Given the description of an element on the screen output the (x, y) to click on. 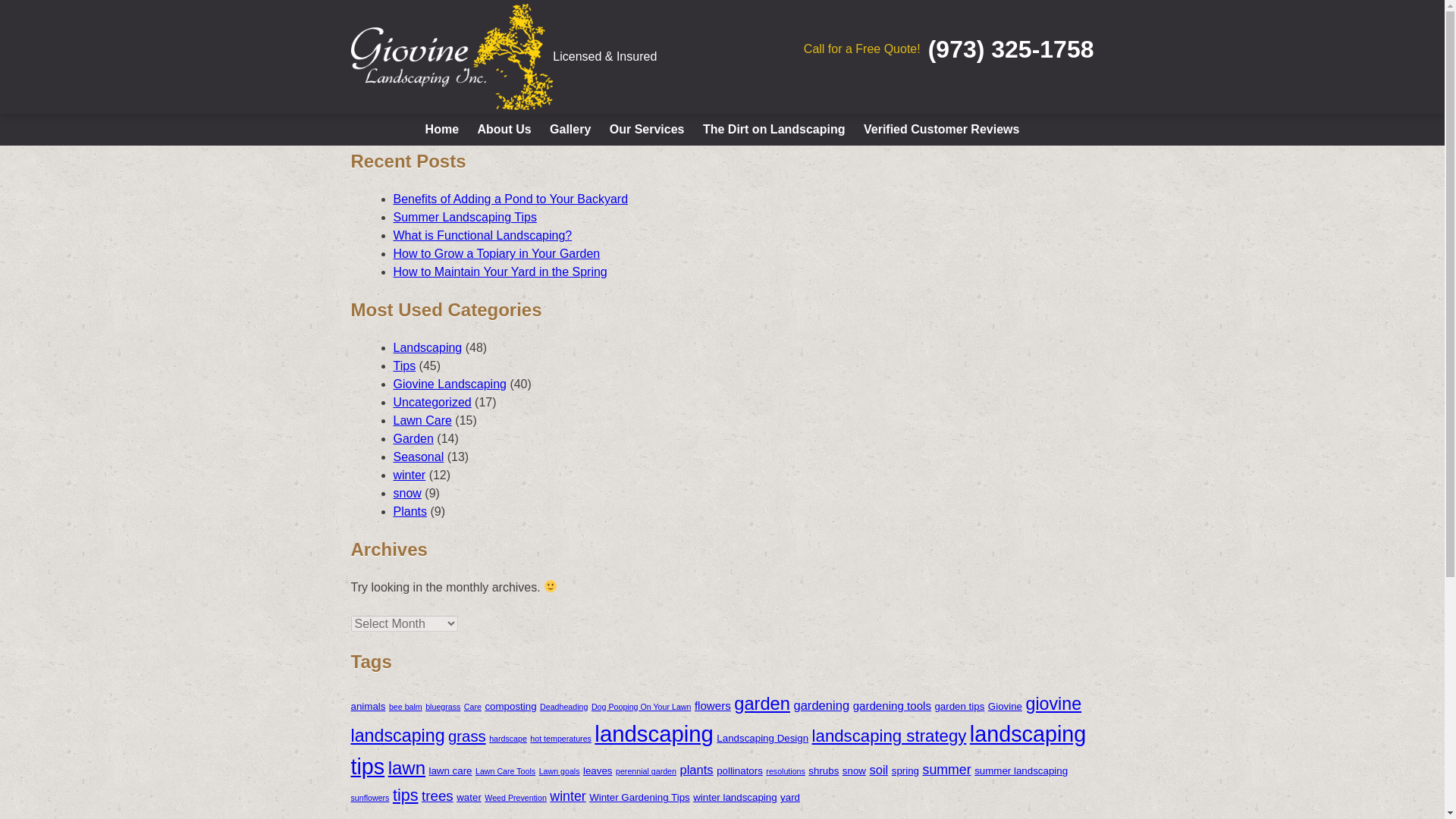
Giovine Landscaping (449, 383)
gardening tools (892, 705)
Summer Landscaping Tips (464, 216)
Our Services (647, 129)
Deadheading (564, 706)
gardening (820, 705)
garden (761, 703)
Garden (412, 438)
bluegrass (442, 706)
What is Functional Landscaping? (482, 235)
